Given the description of an element on the screen output the (x, y) to click on. 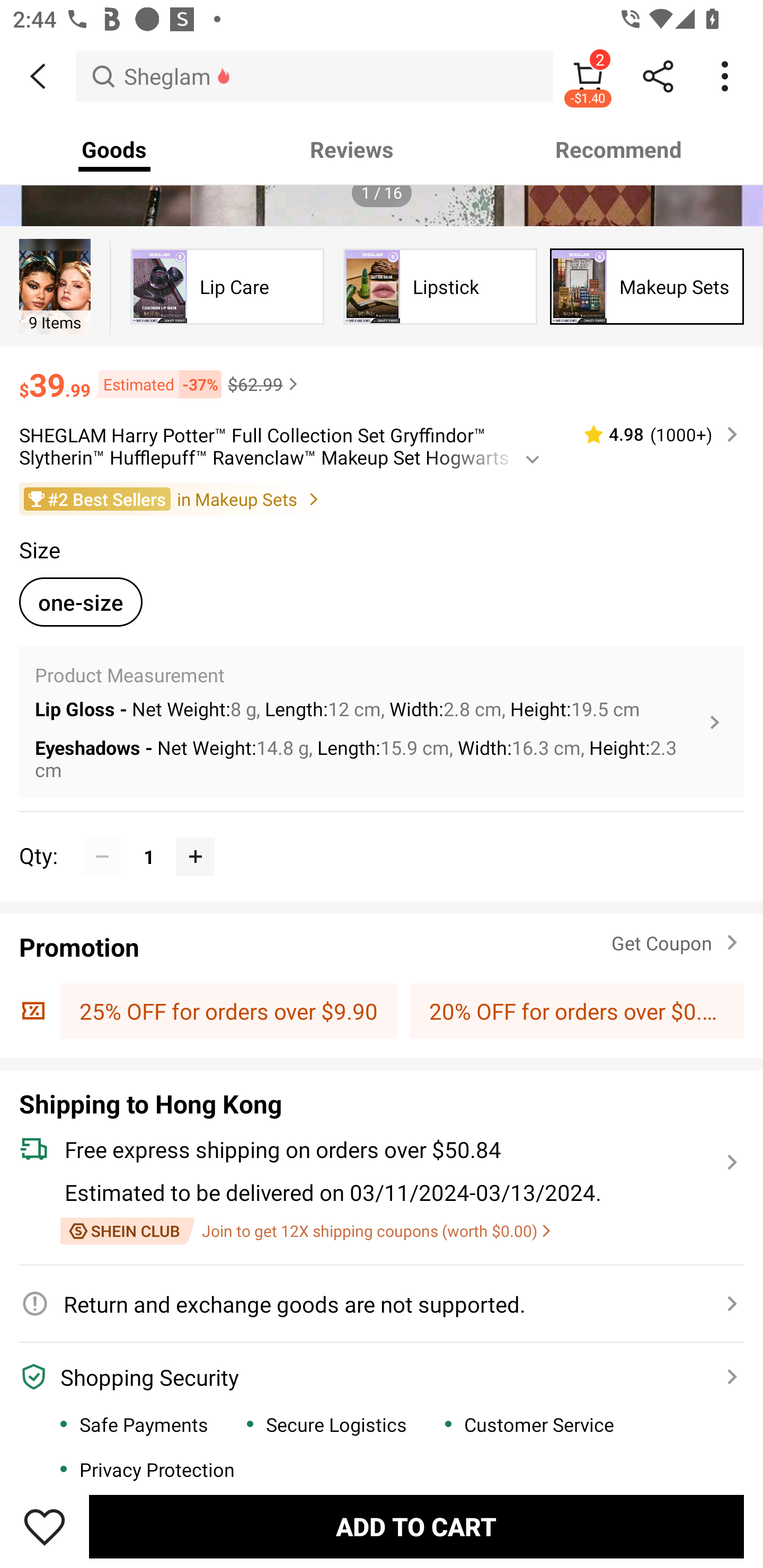
BACK (38, 75)
2 -$1.40 (588, 75)
Sheglam (314, 75)
Goods (114, 149)
Reviews (351, 149)
Recommend (618, 149)
1 / 16 (381, 192)
Lip Care (227, 285)
Lipstick (440, 285)
Makeup Sets (646, 285)
$39.99 Estimated -37% $62.99 (381, 376)
Estimated -37% (155, 384)
$62.99 (265, 384)
4.98 (1000‎+) (653, 433)
#2 Best Sellers in Makeup Sets (381, 498)
Size (39, 549)
one-size one-sizeselected option (80, 602)
Qty: 1 (381, 836)
Join to get 12X shipping coupons (worth $0.00) (305, 1230)
Return and exchange goods are not supported. (370, 1303)
ADD TO CART (416, 1526)
Save (44, 1526)
